Given the description of an element on the screen output the (x, y) to click on. 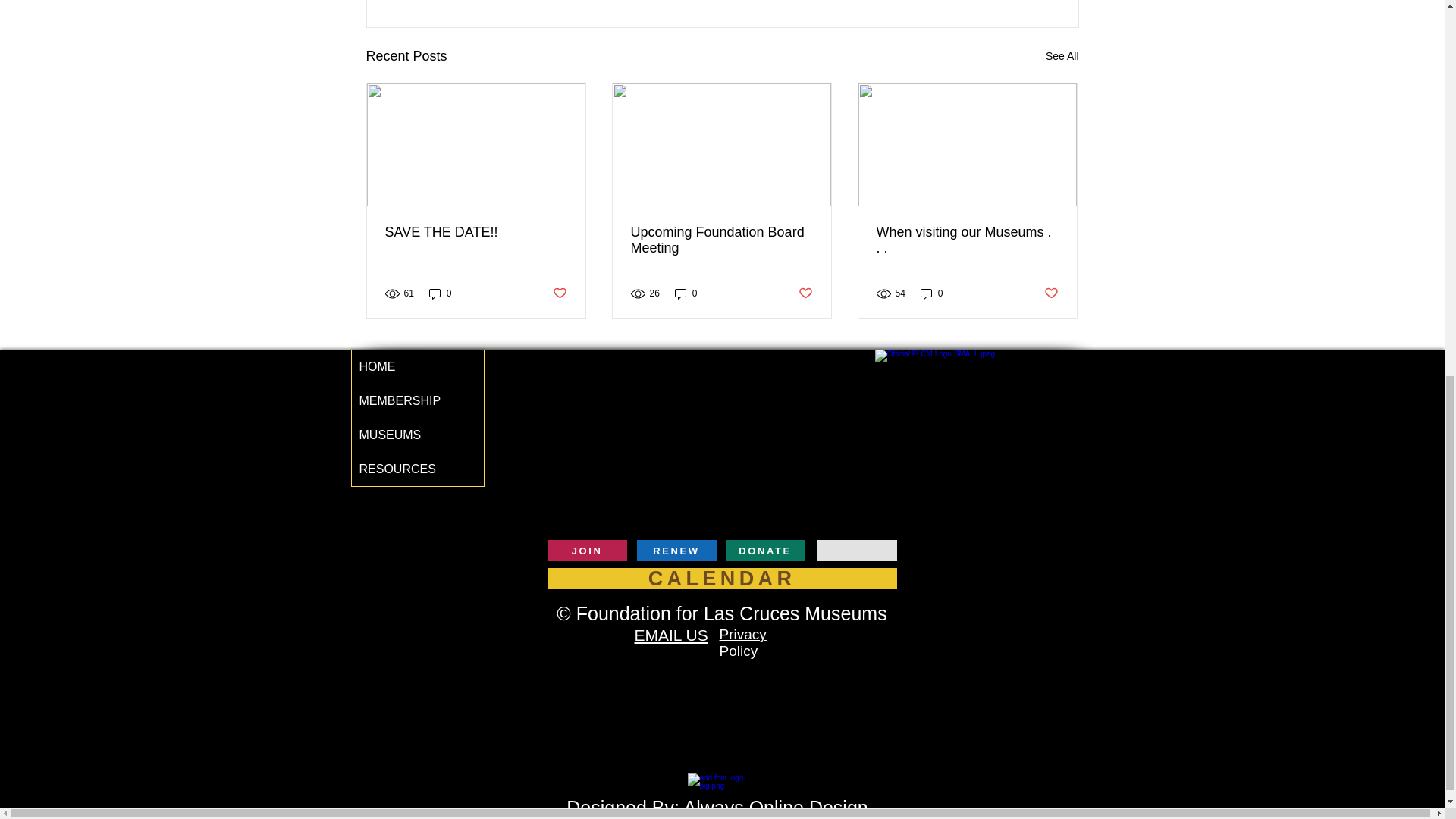
SAVE THE DATE!! (476, 232)
See All (1061, 56)
0 (440, 292)
Upcoming Foundation Board Meeting (721, 240)
Post not marked as liked (558, 293)
Facebook Like (1048, 552)
